Given the description of an element on the screen output the (x, y) to click on. 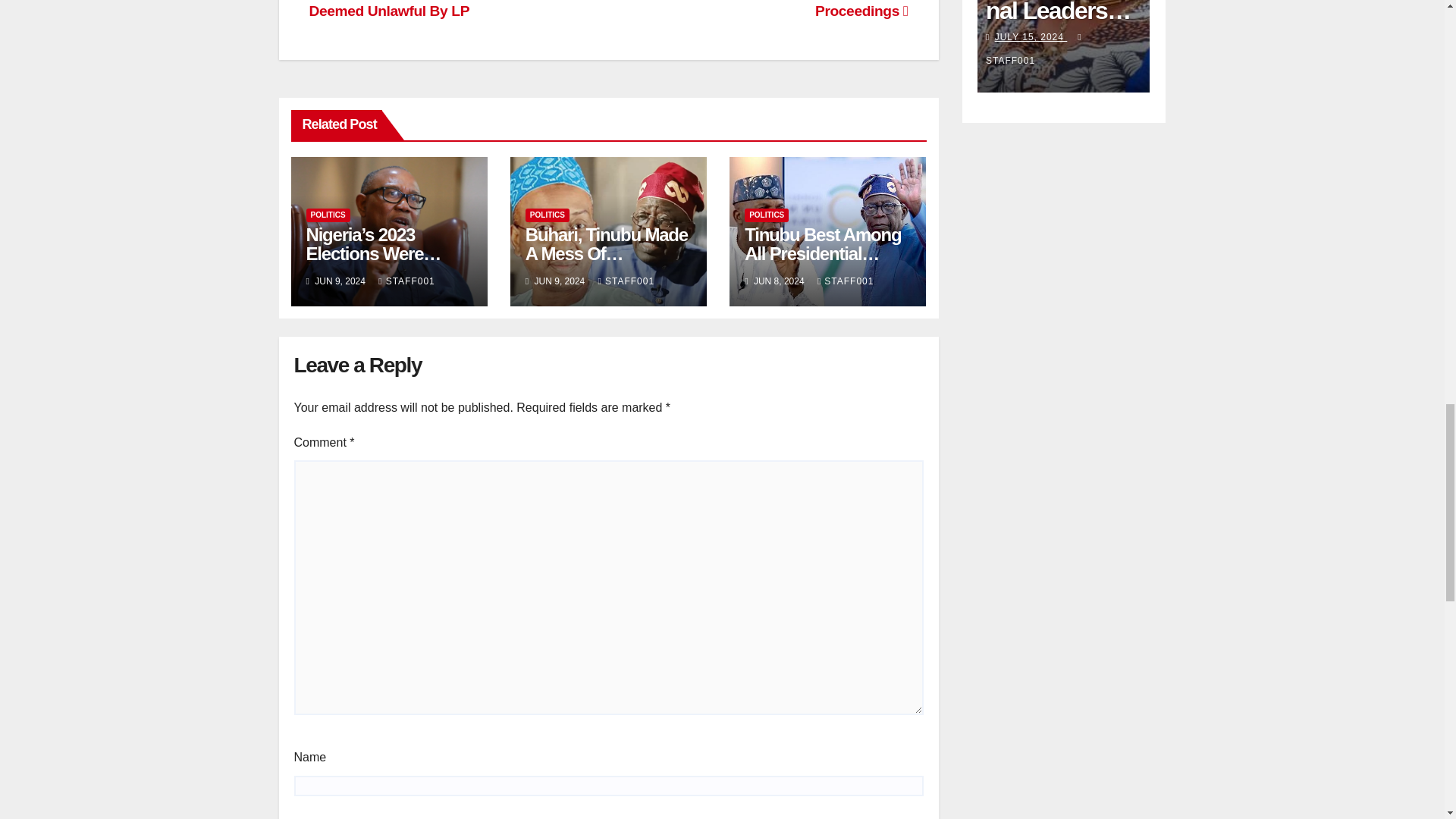
Shaibu Loses Bid To End Impeachment Proceedings (776, 9)
NLC Picketing Of Party Secretariats Deemed Unlawful By LP (431, 9)
STAFF001 (406, 281)
POLITICS (327, 214)
